Given the description of an element on the screen output the (x, y) to click on. 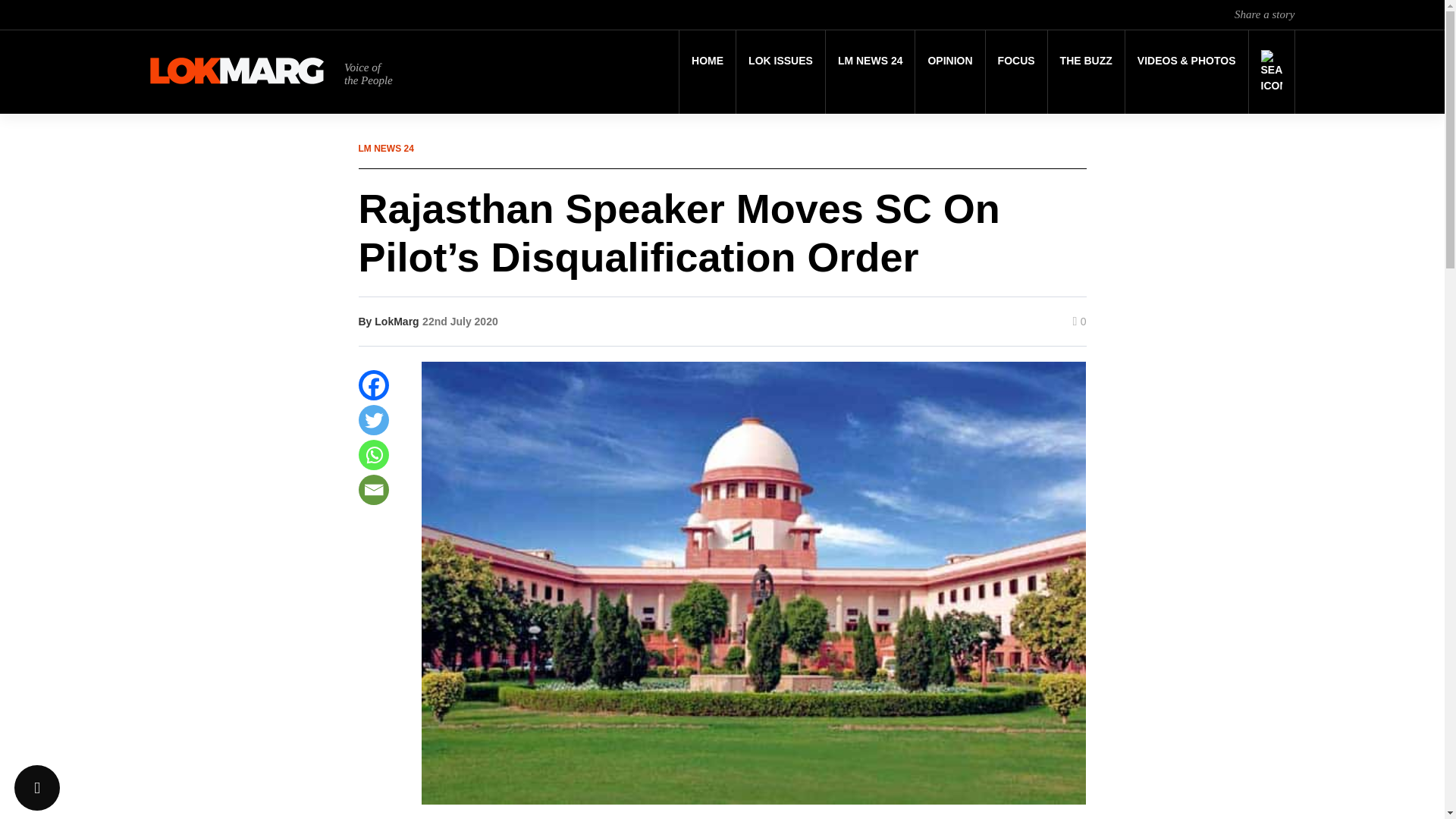
OPINION (949, 60)
Opinion (949, 60)
Home (707, 60)
THE BUZZ (1086, 60)
Focus (1015, 60)
THE BUZZ (1086, 60)
Twitter (373, 419)
LM News 24 (870, 60)
LokMarg (396, 321)
HOME (707, 60)
Share a story (1264, 14)
LM NEWS 24 (870, 60)
Facebook (373, 385)
Lok Issues (780, 60)
LOK ISSUES (780, 60)
